Given the description of an element on the screen output the (x, y) to click on. 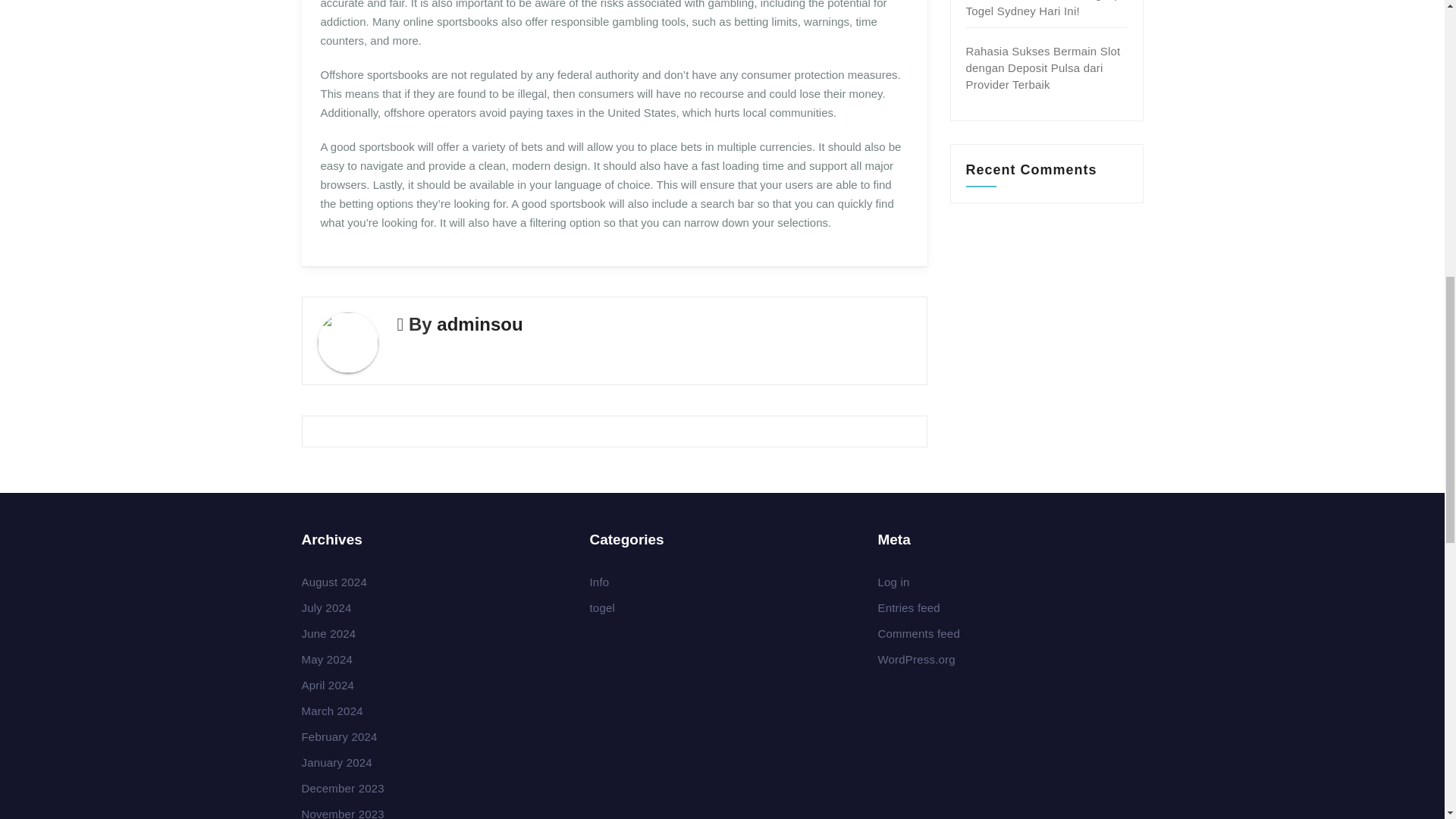
December 2023 (342, 788)
February 2024 (339, 736)
July 2024 (326, 607)
adminsou (479, 323)
January 2024 (336, 762)
March 2024 (331, 710)
June 2024 (328, 633)
November 2023 (342, 813)
